Given the description of an element on the screen output the (x, y) to click on. 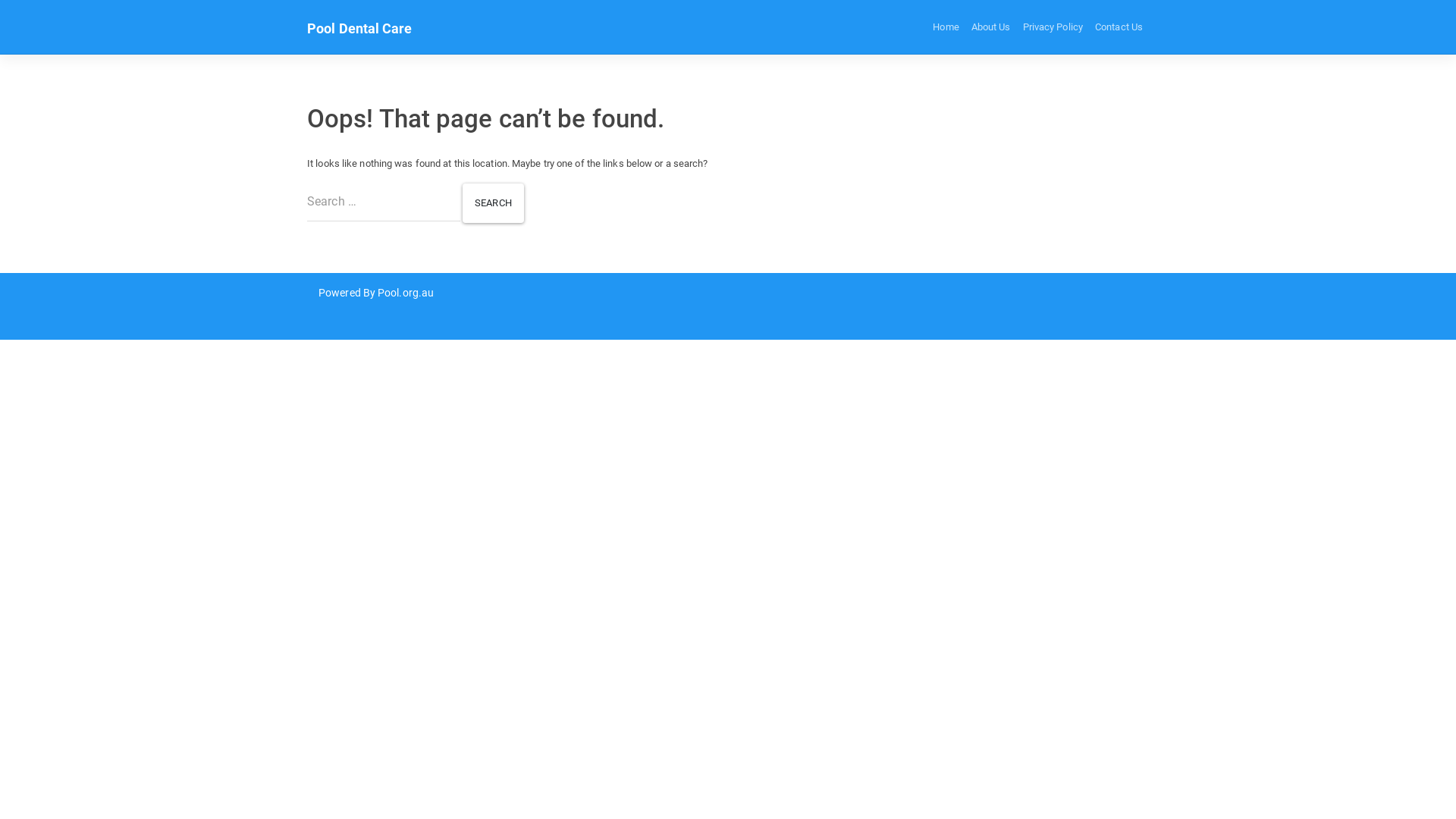
Search Element type: text (493, 202)
Home Element type: text (945, 27)
Pool Dental Care Element type: text (359, 28)
Contact Us Element type: text (1118, 27)
About Us Element type: text (990, 27)
Privacy Policy Element type: text (1052, 27)
Search for: Element type: hover (383, 201)
